Given the description of an element on the screen output the (x, y) to click on. 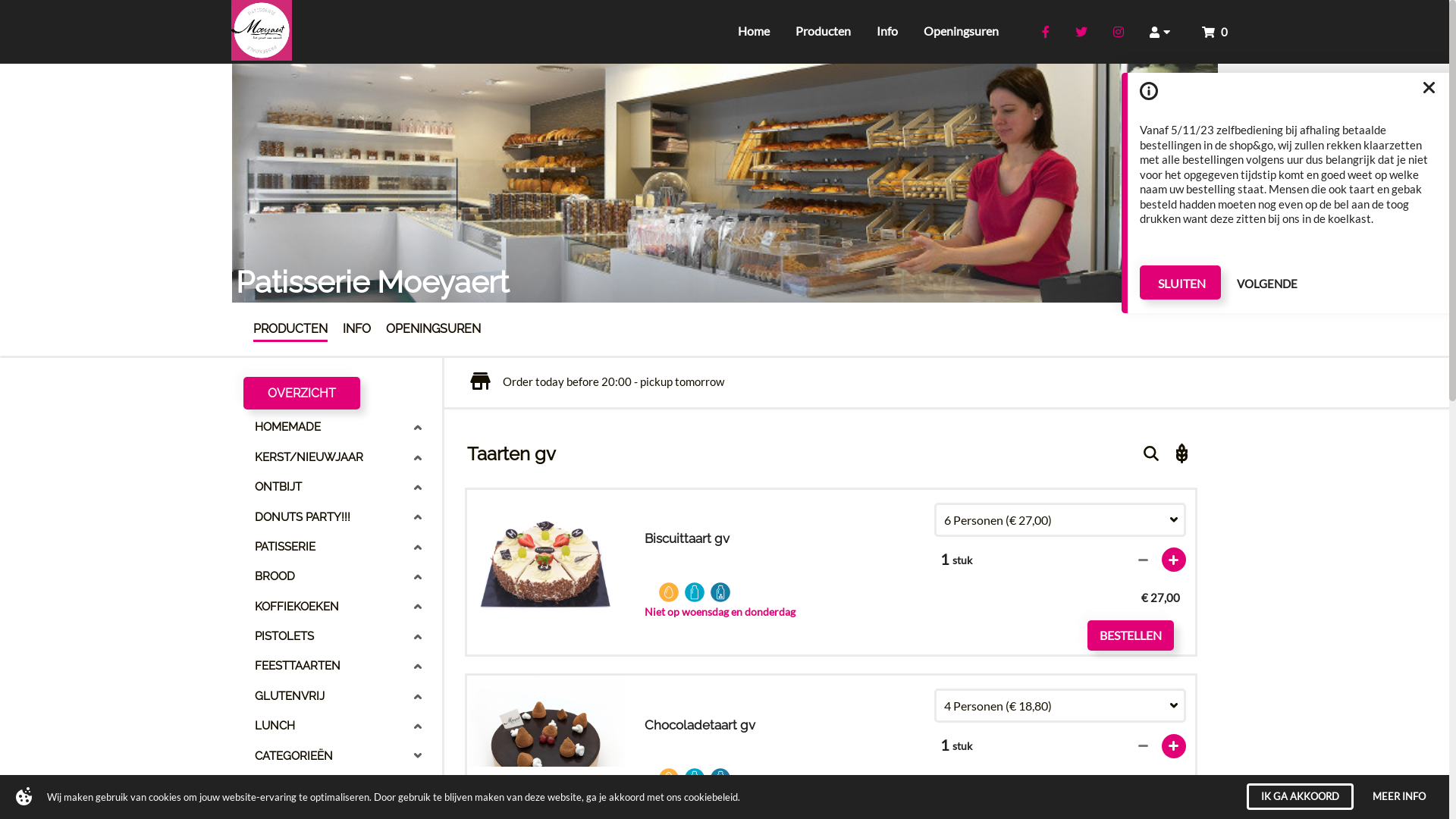
I AGREE Element type: text (1320, 796)
MORE INFO Element type: text (1403, 796)
